Given the description of an element on the screen output the (x, y) to click on. 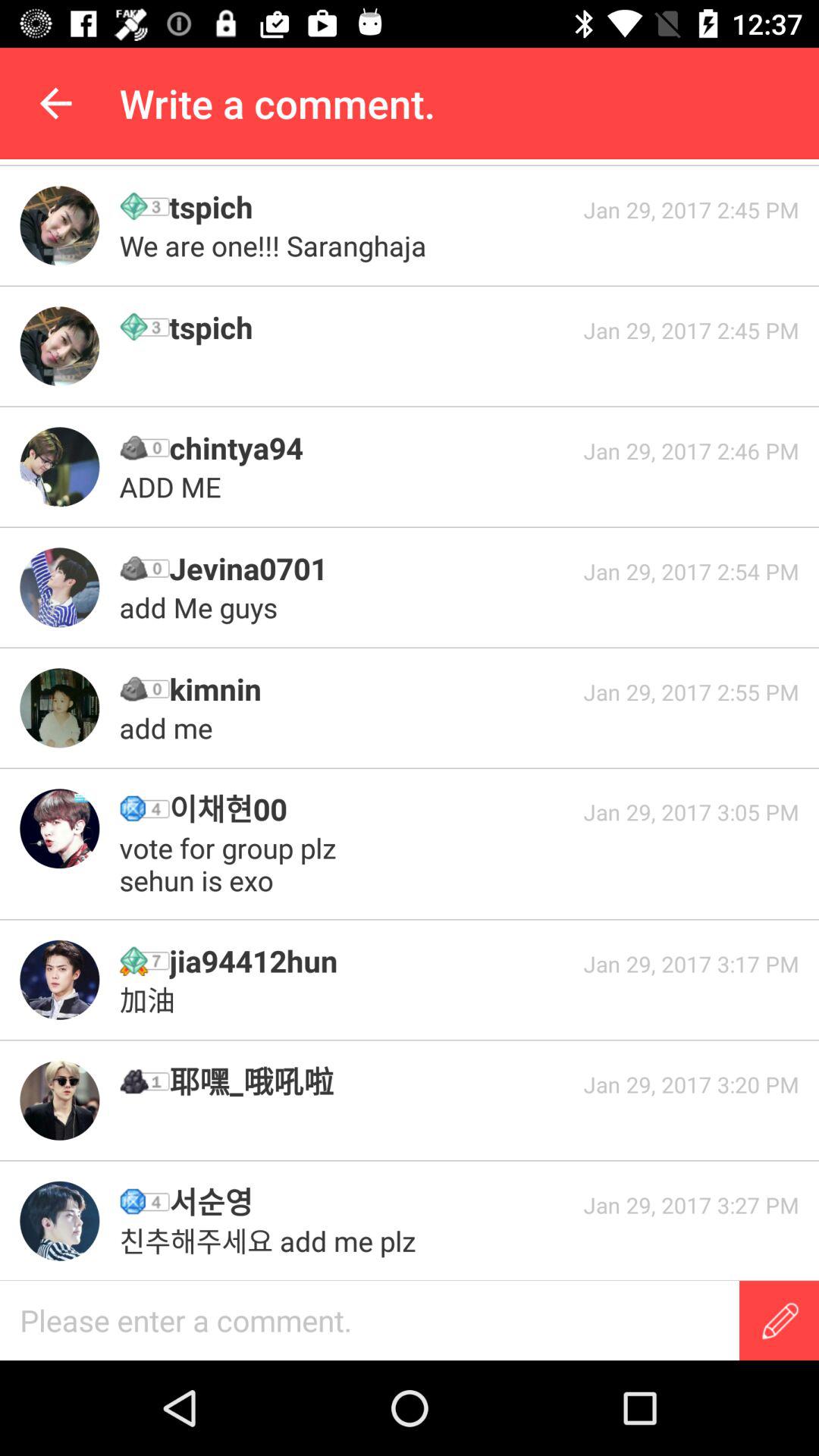
turn off the icon to the left of jan 29 2017 icon (371, 688)
